Given the description of an element on the screen output the (x, y) to click on. 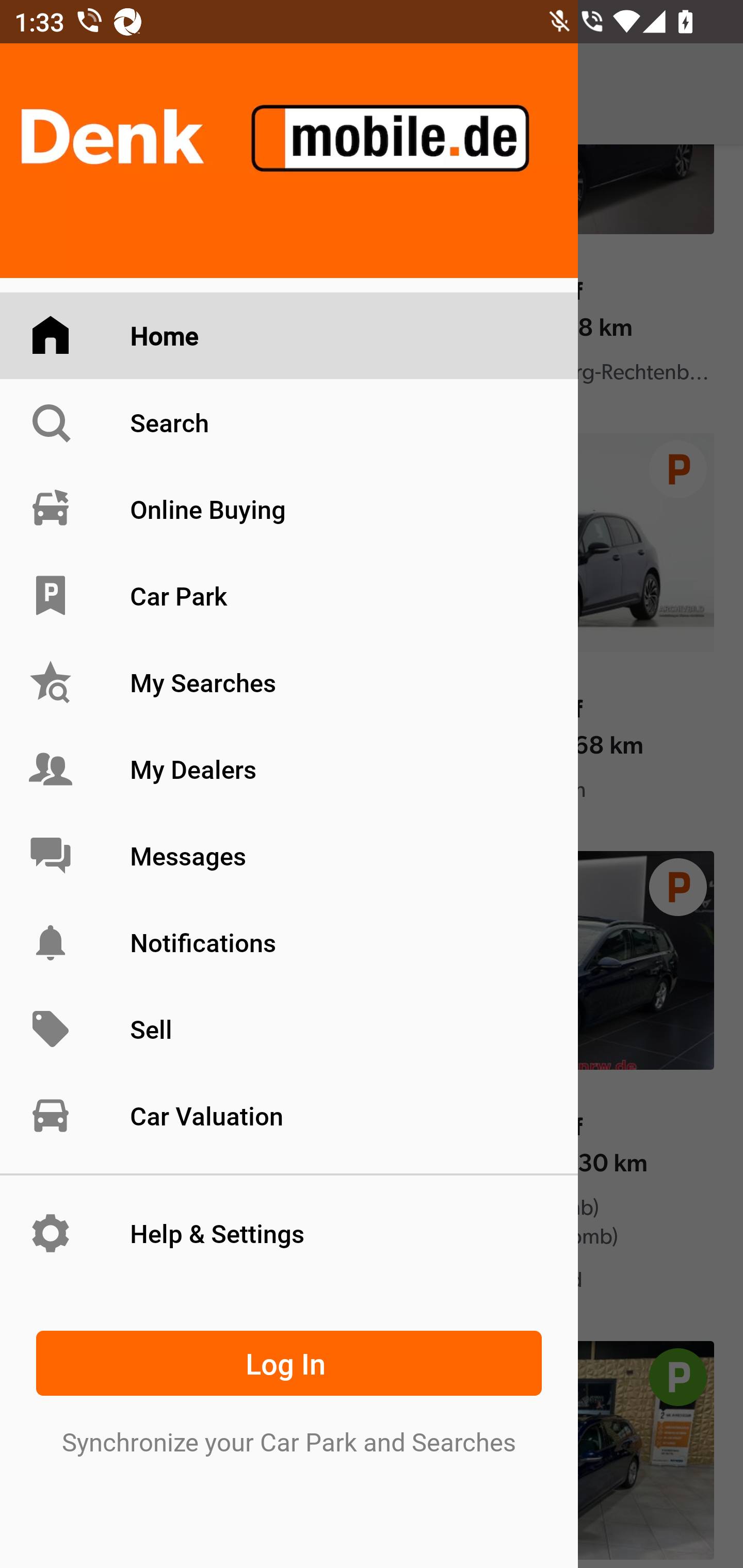
Home (289, 336)
Search (289, 422)
Online Buying (289, 508)
Car Park (289, 595)
My Searches (289, 682)
My Dealers (289, 768)
Messages (289, 855)
Notifications (289, 942)
Sell (289, 1029)
Car Valuation (289, 1115)
Help & Settings (289, 1233)
Log In Synchronize your Car Park and Searches (289, 1388)
Log In (288, 1363)
